Given the description of an element on the screen output the (x, y) to click on. 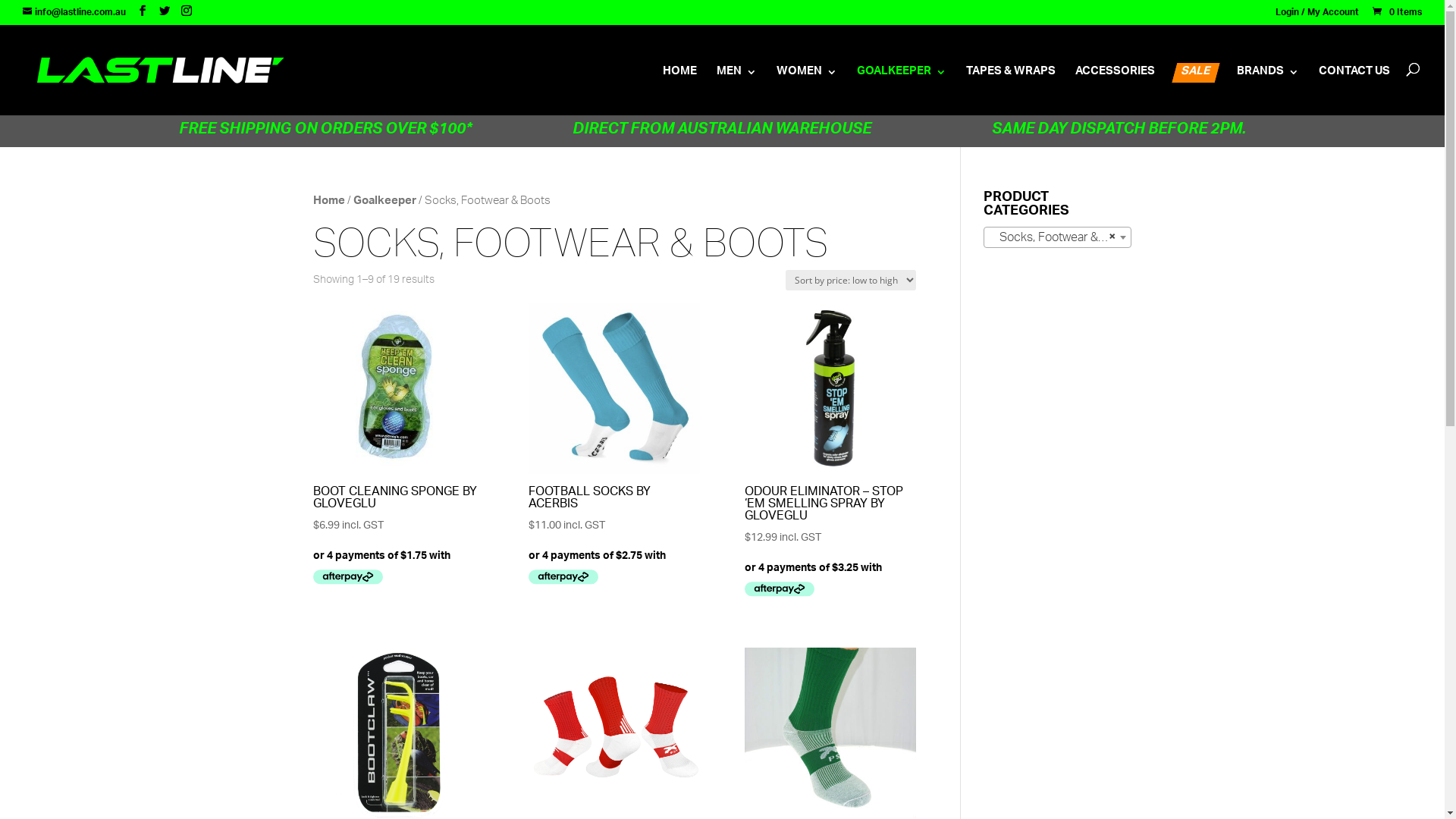
BRANDS Element type: text (1267, 90)
Goalkeeper Element type: text (384, 201)
CONTACT US Element type: text (1354, 90)
MEN Element type: text (736, 90)
WOMEN Element type: text (806, 90)
TAPES & WRAPS Element type: text (1010, 90)
Home Element type: text (328, 201)
SALE Element type: text (1193, 72)
Login / My Account Element type: text (1316, 16)
0 Items Element type: text (1395, 12)
GOALKEEPER Element type: text (901, 90)
info@lastline.com.au Element type: text (73, 12)
HOME Element type: text (679, 90)
ACCESSORIES Element type: text (1114, 90)
